Given the description of an element on the screen output the (x, y) to click on. 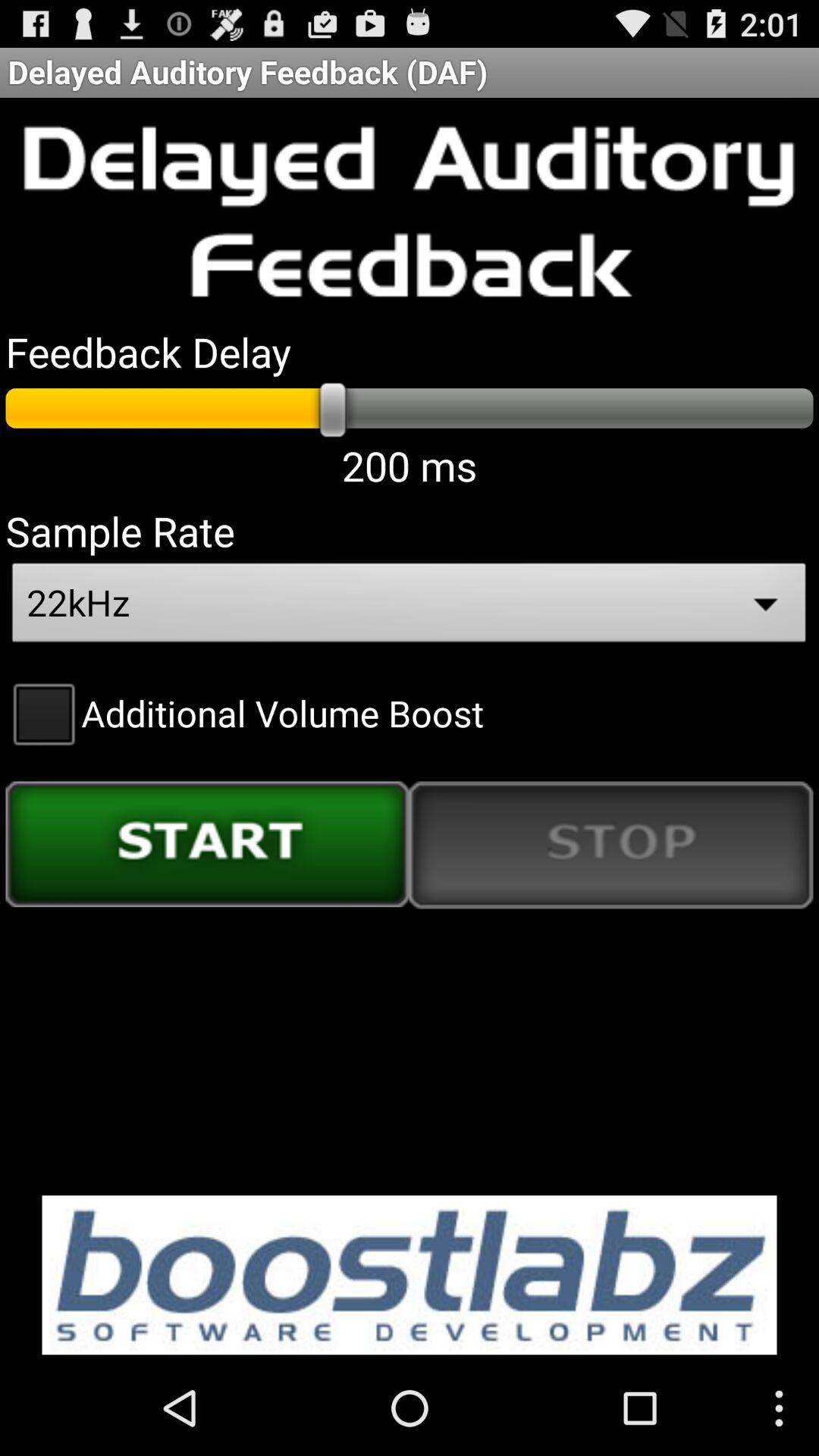
open the app below the 22khz app (244, 712)
